Given the description of an element on the screen output the (x, y) to click on. 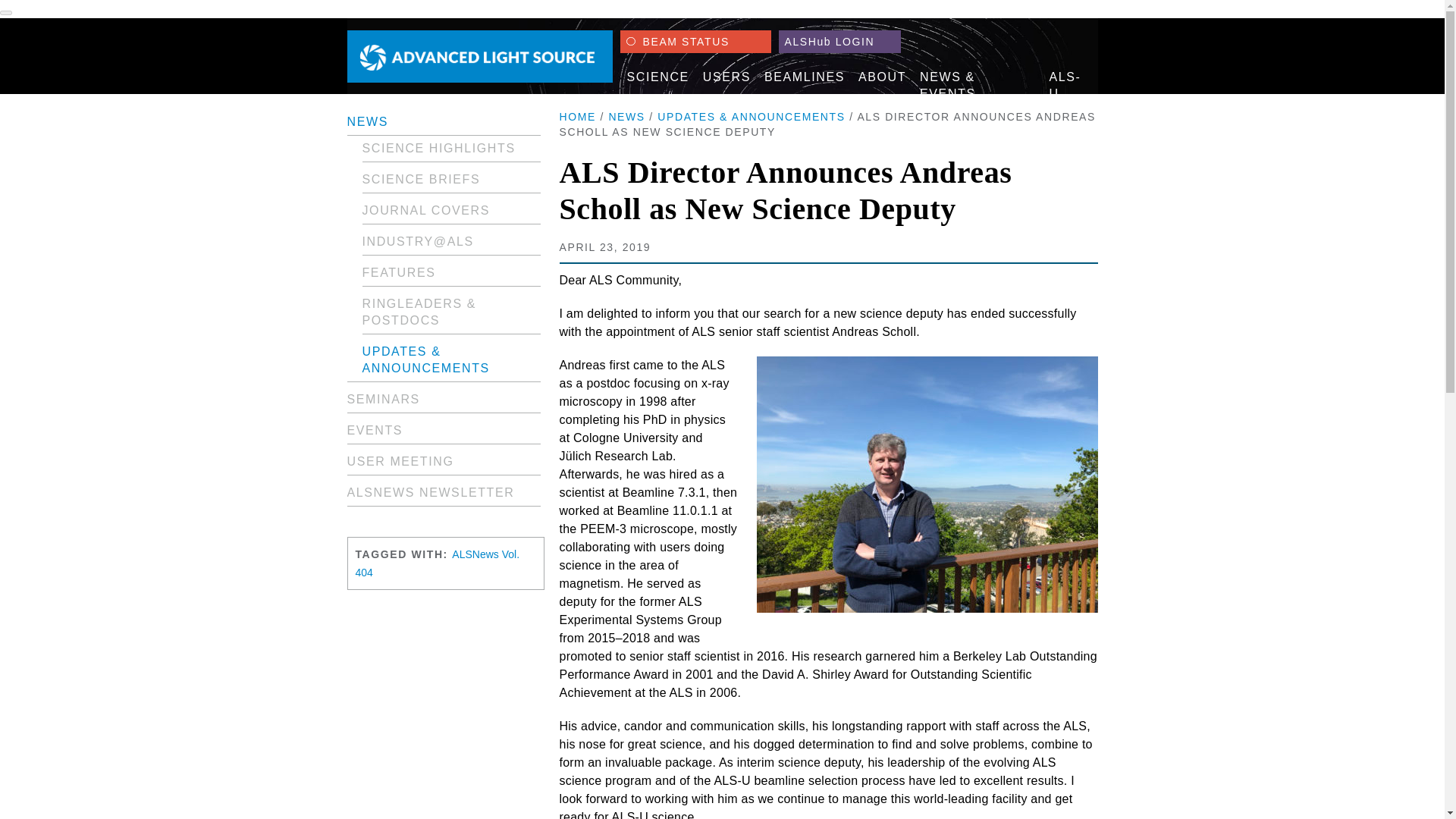
SCIENCE (657, 77)
BEAM STATUS (695, 41)
ALS (479, 55)
ALSHub LOGIN (838, 41)
USERS (726, 77)
BEAMLINES (804, 77)
